Given the description of an element on the screen output the (x, y) to click on. 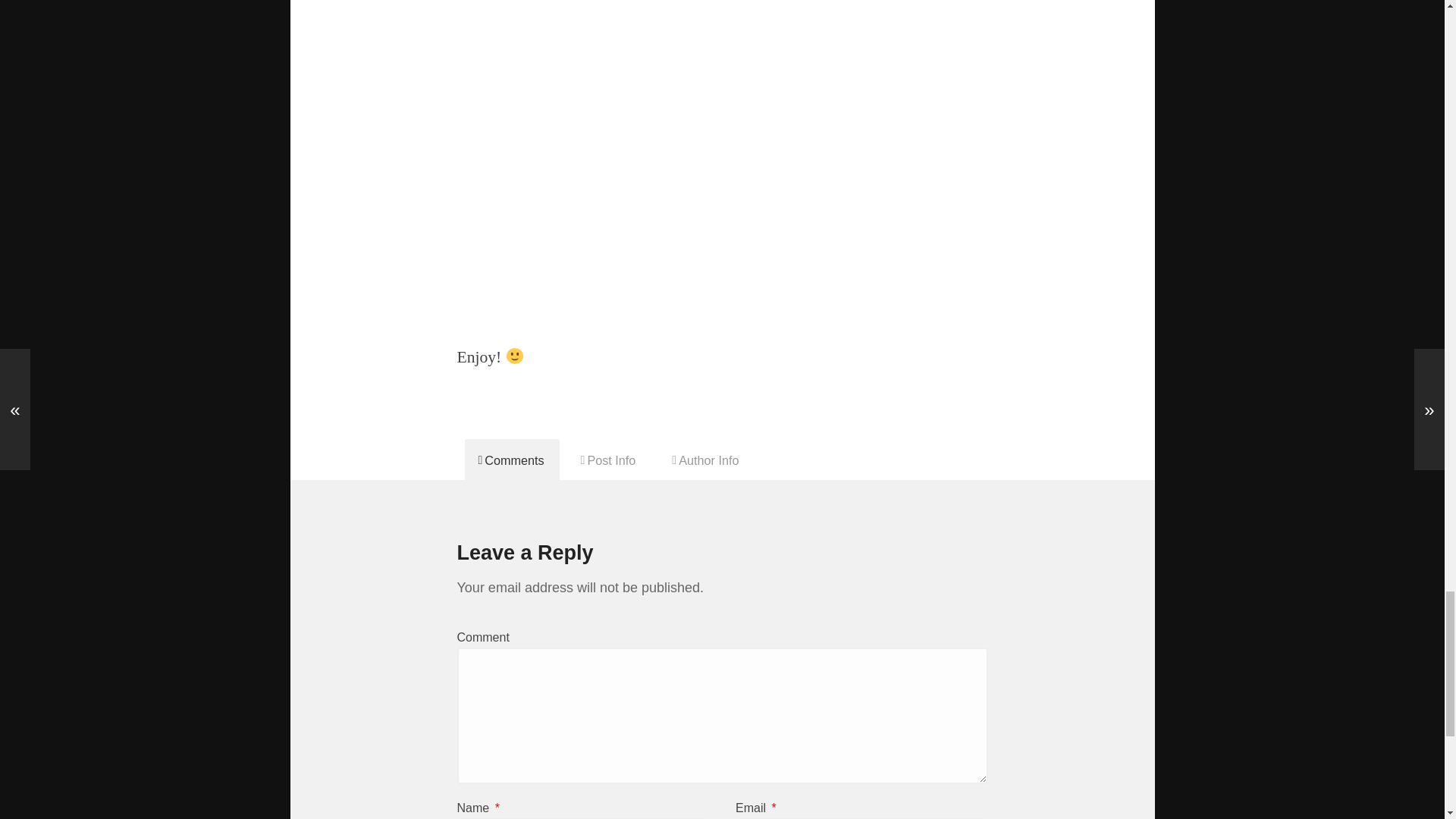
Post Info (608, 458)
Comments (511, 458)
Author Info (706, 458)
